Given the description of an element on the screen output the (x, y) to click on. 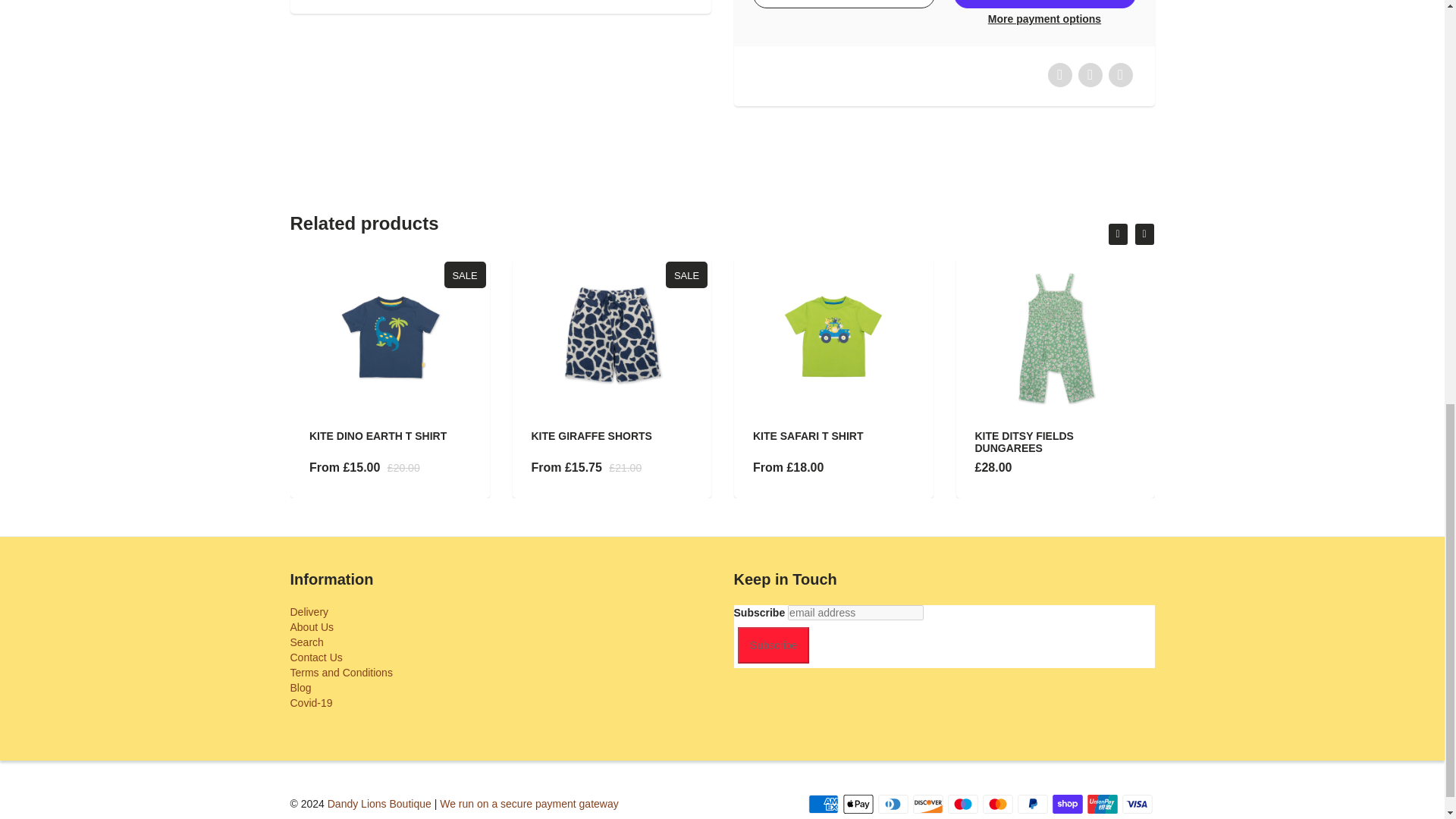
Shop Pay (1067, 804)
Discover (927, 804)
Mastercard (997, 804)
Apple Pay (858, 804)
Union Pay (1102, 804)
Subscribe (773, 645)
Add to Cart (843, 4)
Diners Club (892, 804)
American Express (823, 804)
Visa (1137, 804)
Maestro (962, 804)
PayPal (1032, 804)
